Given the description of an element on the screen output the (x, y) to click on. 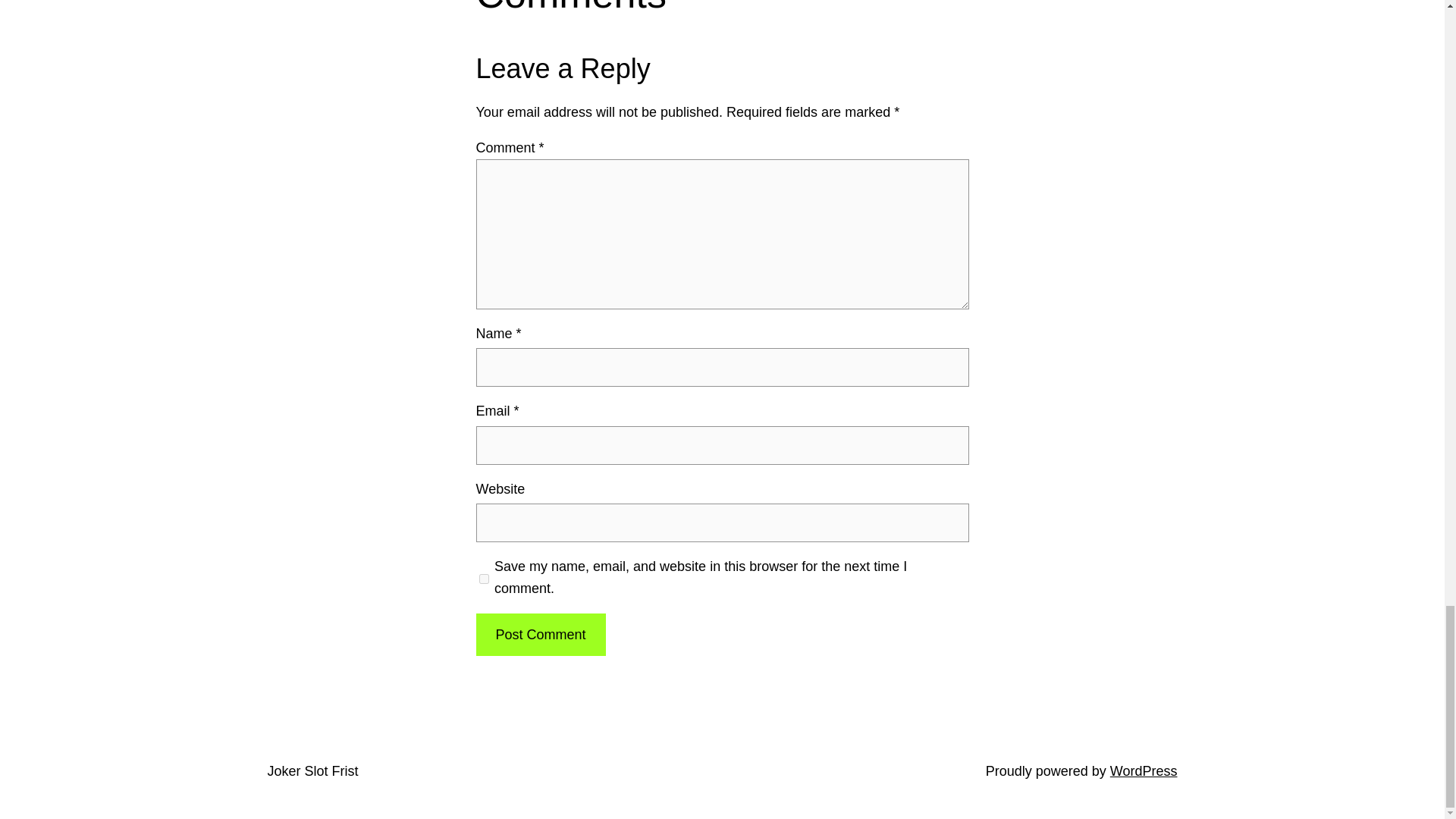
WordPress (1143, 770)
Joker Slot Frist (312, 770)
Post Comment (540, 634)
Post Comment (540, 634)
